Given the description of an element on the screen output the (x, y) to click on. 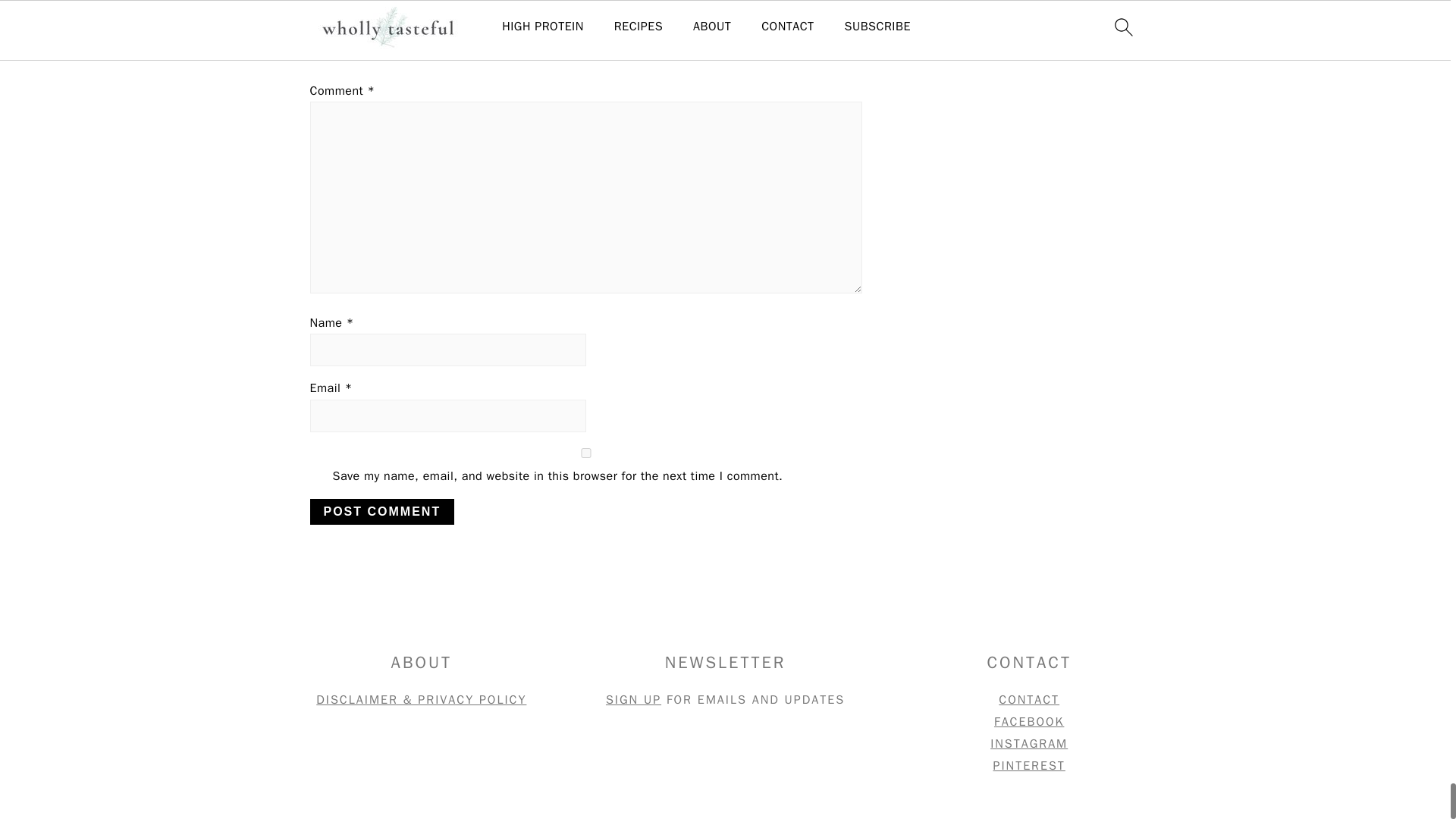
Post Comment (381, 511)
yes (584, 452)
